Given the description of an element on the screen output the (x, y) to click on. 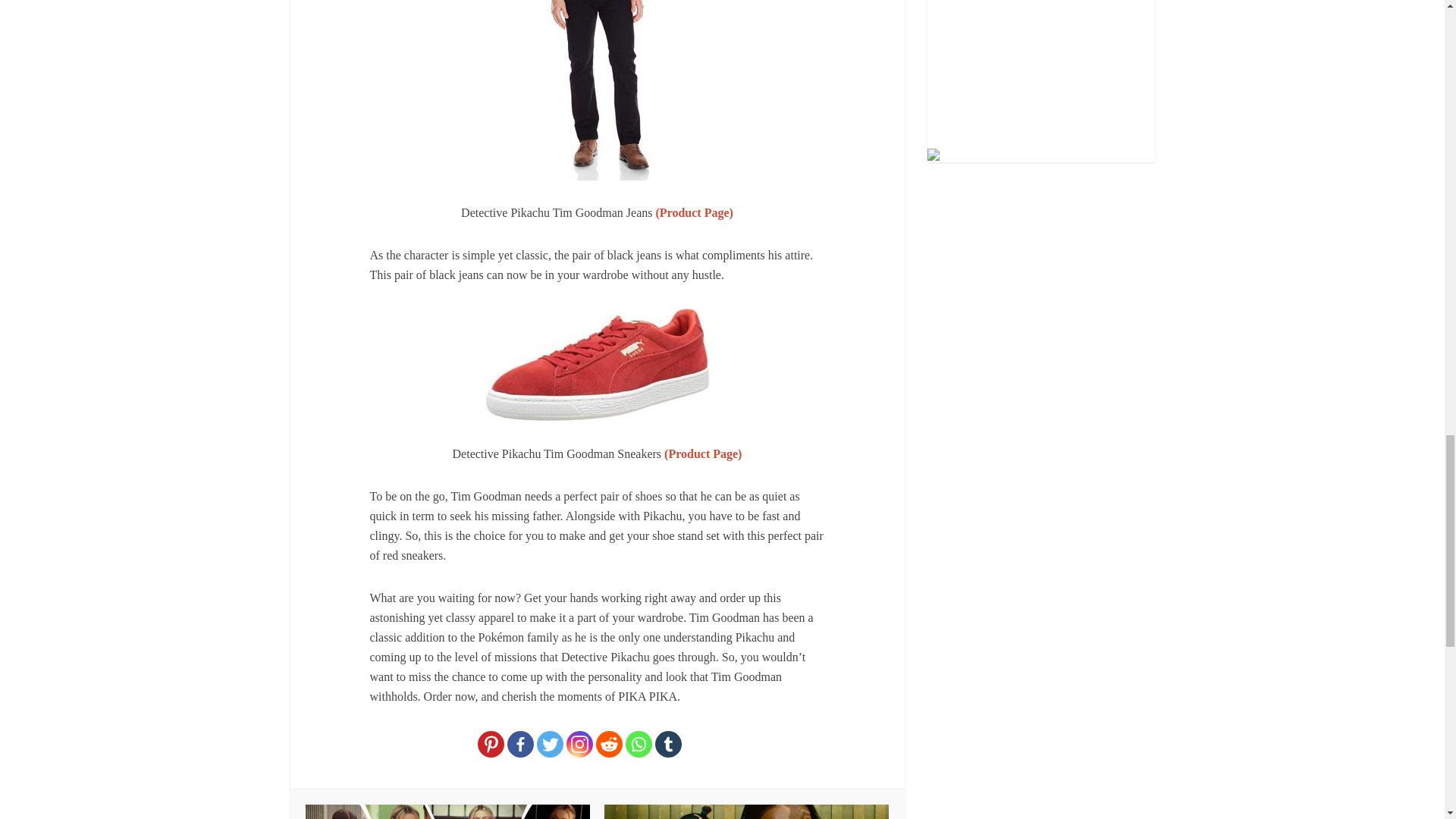
Pinterest (490, 744)
Reddit (609, 744)
Twitter (550, 744)
Whatsapp (639, 744)
Facebook (520, 744)
Instagram (579, 744)
Tumblr (668, 744)
